Given the description of an element on the screen output the (x, y) to click on. 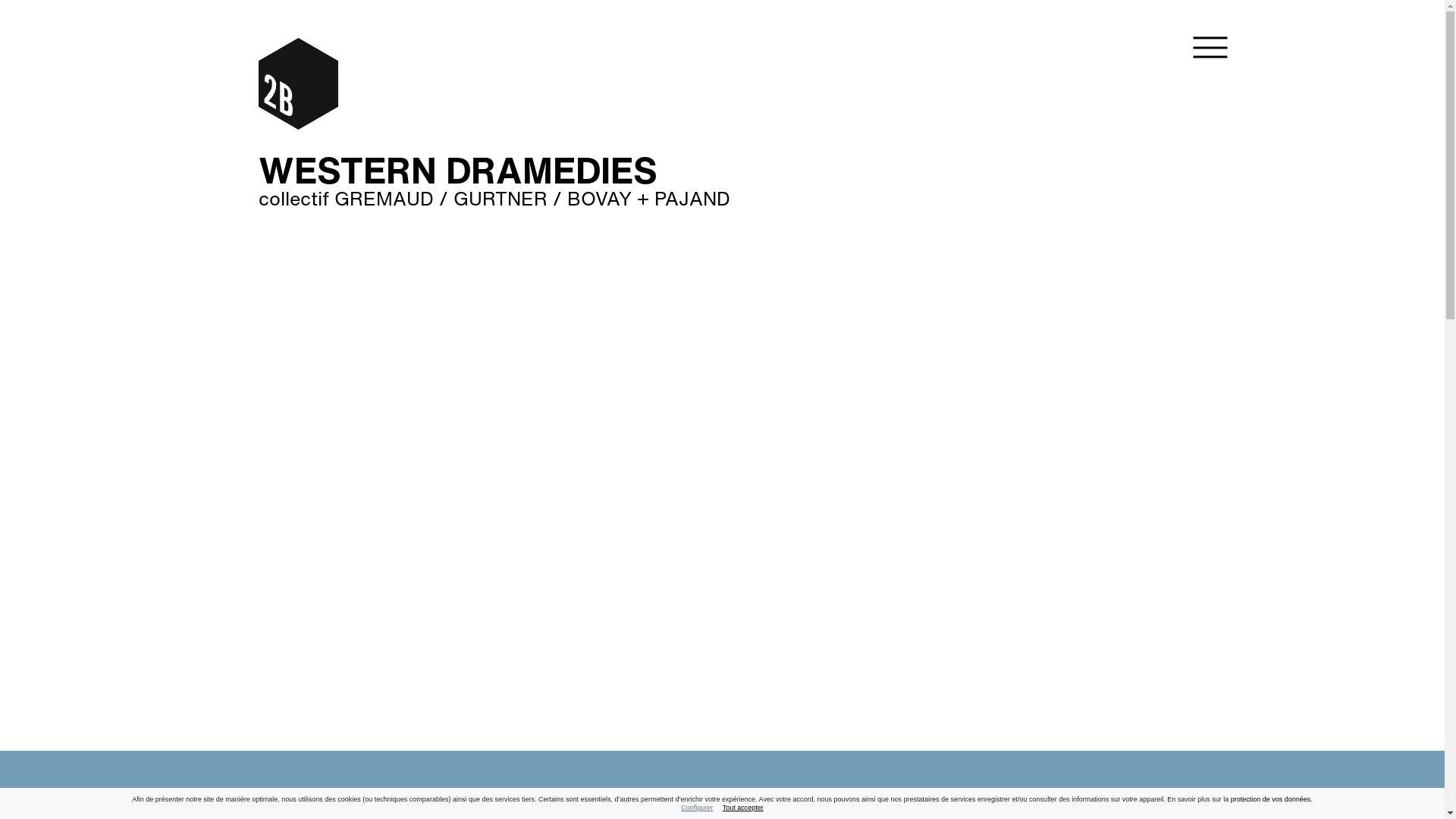
Configurer Element type: text (696, 807)
Tout accepter Element type: text (742, 807)
